Given the description of an element on the screen output the (x, y) to click on. 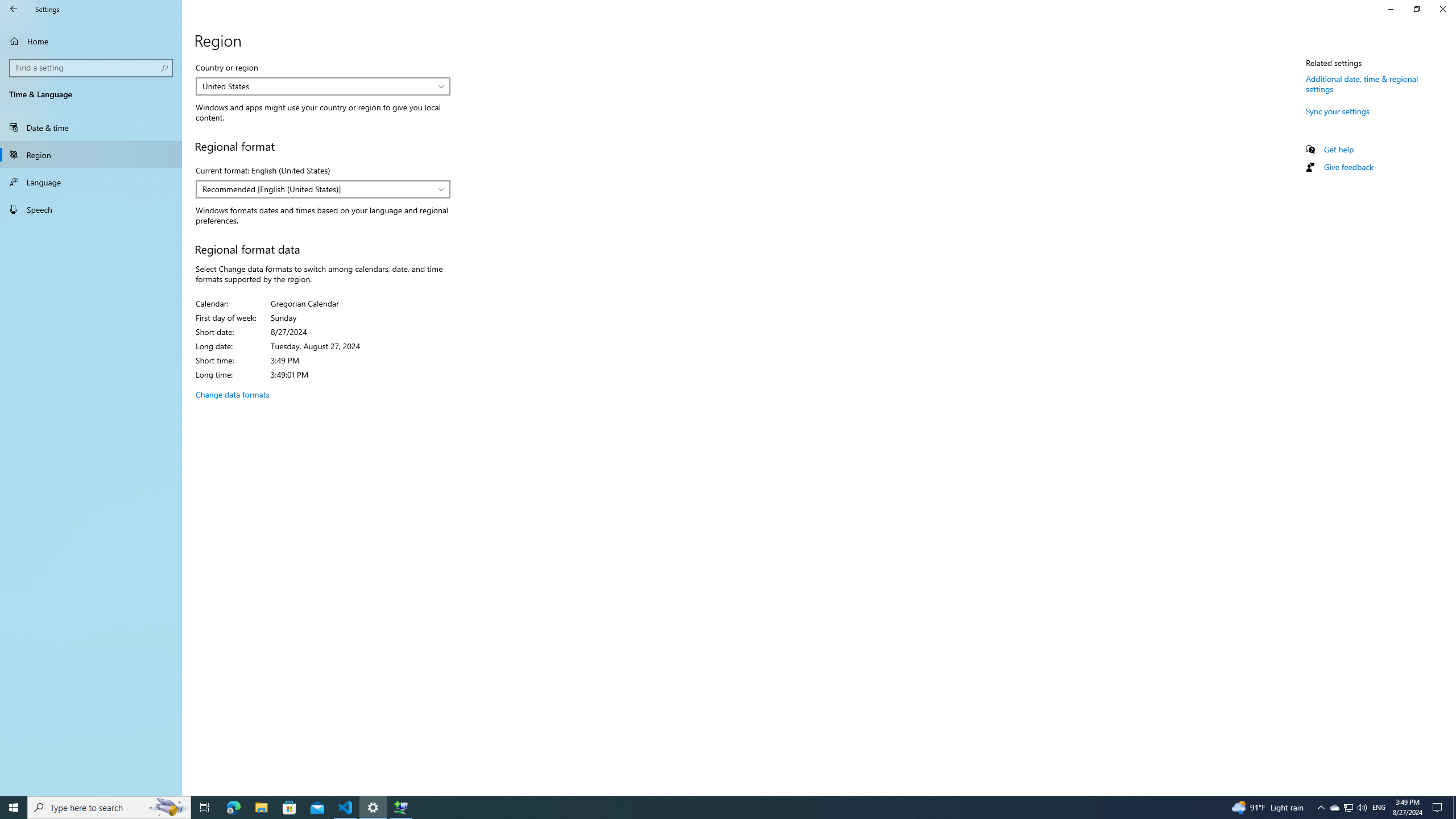
Sync your settings (1338, 110)
Language (91, 181)
Current format: English (United States) (322, 189)
